Given the description of an element on the screen output the (x, y) to click on. 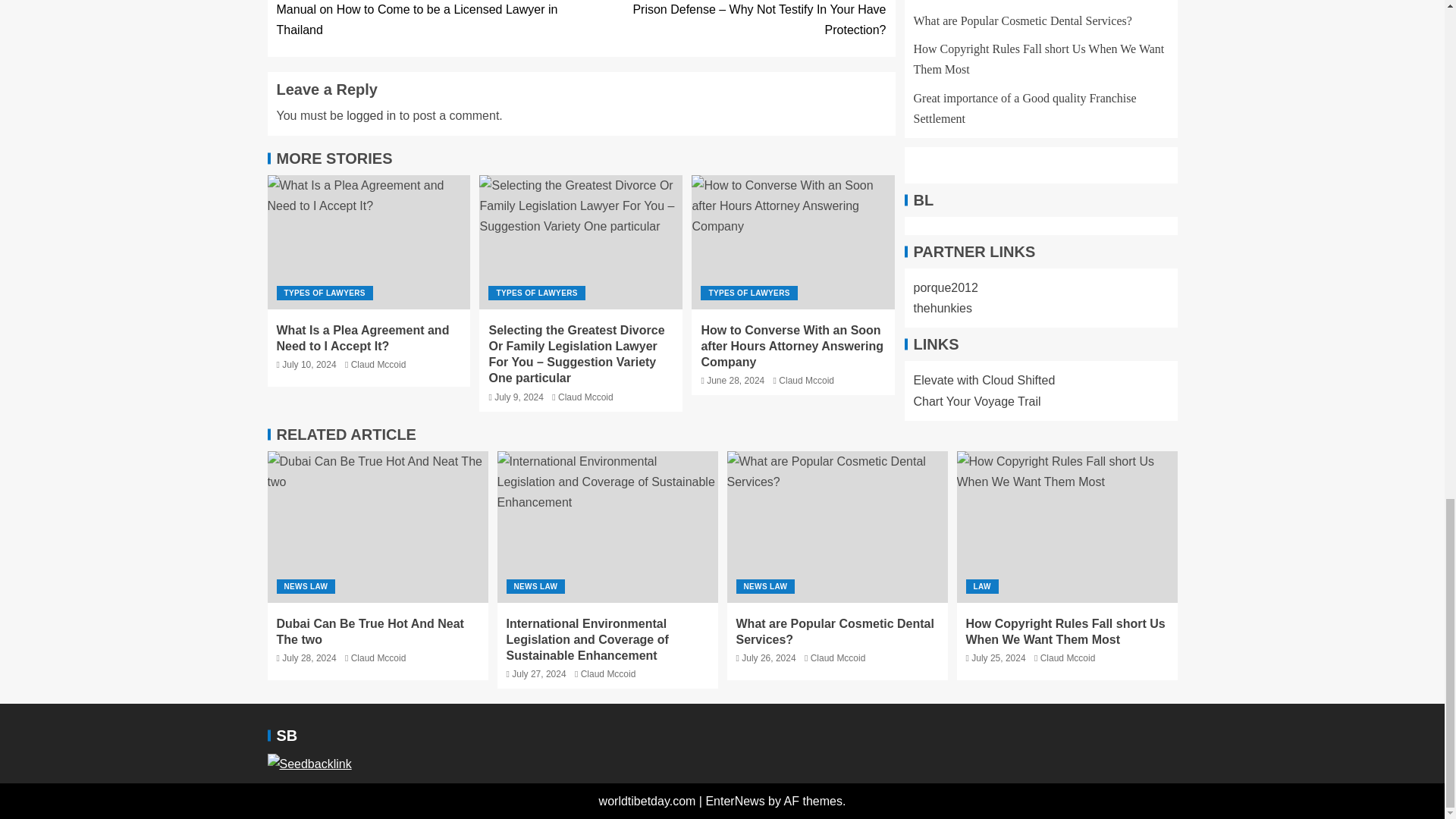
Claud Mccoid (378, 364)
Dubai Can Be True Hot And Neat The two (376, 526)
Claud Mccoid (806, 380)
What are Popular Cosmetic Dental Services? (836, 526)
TYPES OF LAWYERS (324, 292)
TYPES OF LAWYERS (748, 292)
What Is a Plea Agreement and Need to I Accept It? (368, 242)
logged in (371, 115)
TYPES OF LAWYERS (536, 292)
Claud Mccoid (584, 397)
What Is a Plea Agreement and Need to I Accept It? (362, 337)
